Given the description of an element on the screen output the (x, y) to click on. 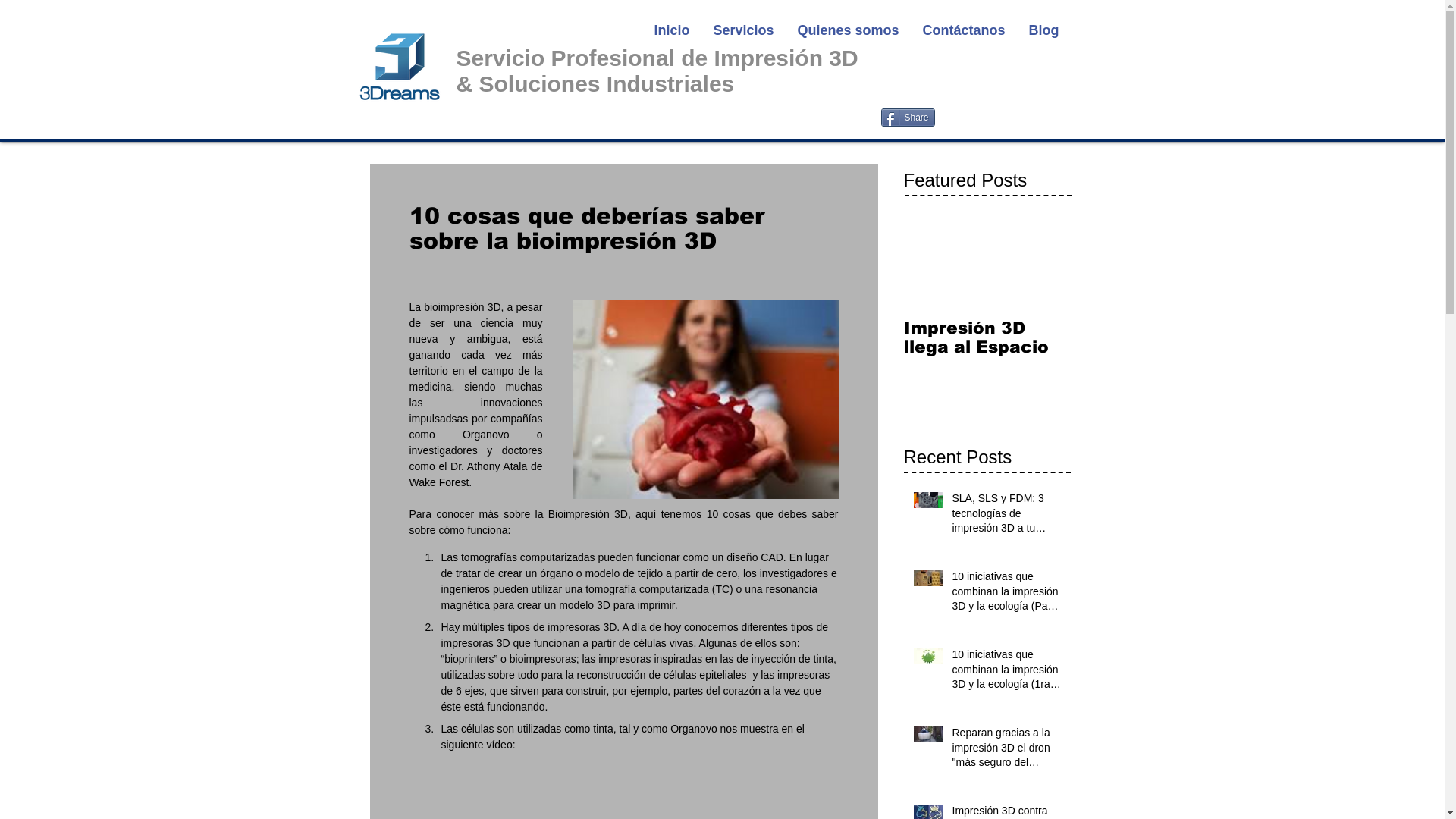
Quienes somos Element type: text (847, 30)
Blog Element type: text (1043, 30)
Me Gusta de Facebook Element type: hover (975, 54)
Servicios Element type: text (742, 30)
Share Element type: text (908, 117)
LOGO 3D-01.png Element type: hover (398, 67)
Inicio Element type: text (670, 30)
